Given the description of an element on the screen output the (x, y) to click on. 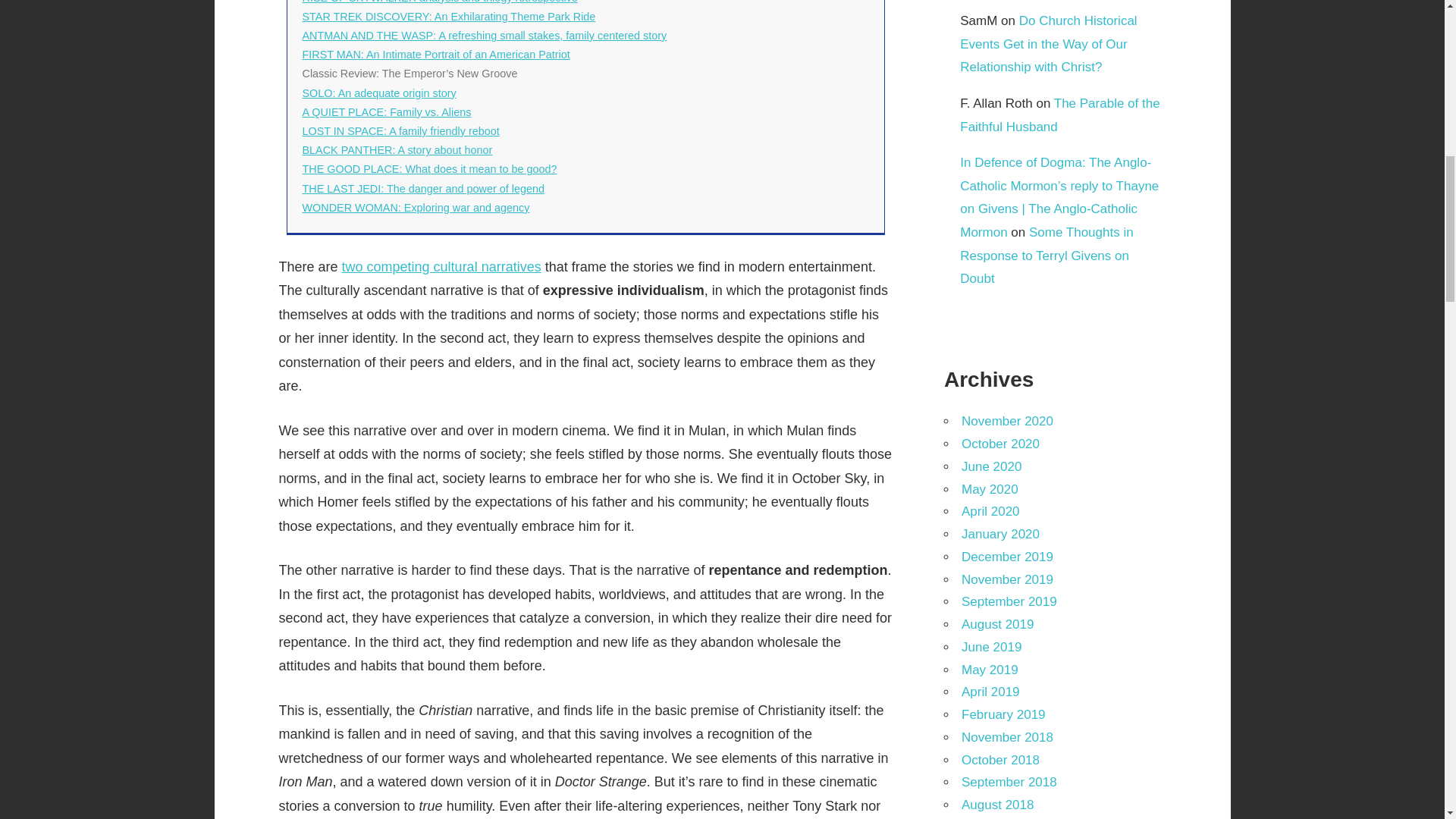
WONDER WOMAN: Exploring war and agency (415, 207)
FIRST MAN: An Intimate Portrait of an American Patriot (435, 54)
RISE OF SKYWALKER analysis and trilogy retrospective (438, 2)
LOST IN SPACE: A family friendly reboot (400, 131)
The Parable of the Faithful Husband (1058, 115)
BLACK PANTHER: A story about honor (396, 150)
THE GOOD PLACE: What does it mean to be good? (428, 168)
A QUIET PLACE: Family vs. Aliens (385, 111)
LOST IN SPACE: A family friendly reboot (400, 131)
STAR TREK DISCOVERY: An Exhilarating Theme Park Ride (448, 16)
A QUIET PLACE: Family vs. Aliens (385, 111)
THE GOOD PLACE: What does it mean to be good? (428, 168)
FIRST MAN: An Intimate Portrait of an American Patriot (435, 54)
